Given the description of an element on the screen output the (x, y) to click on. 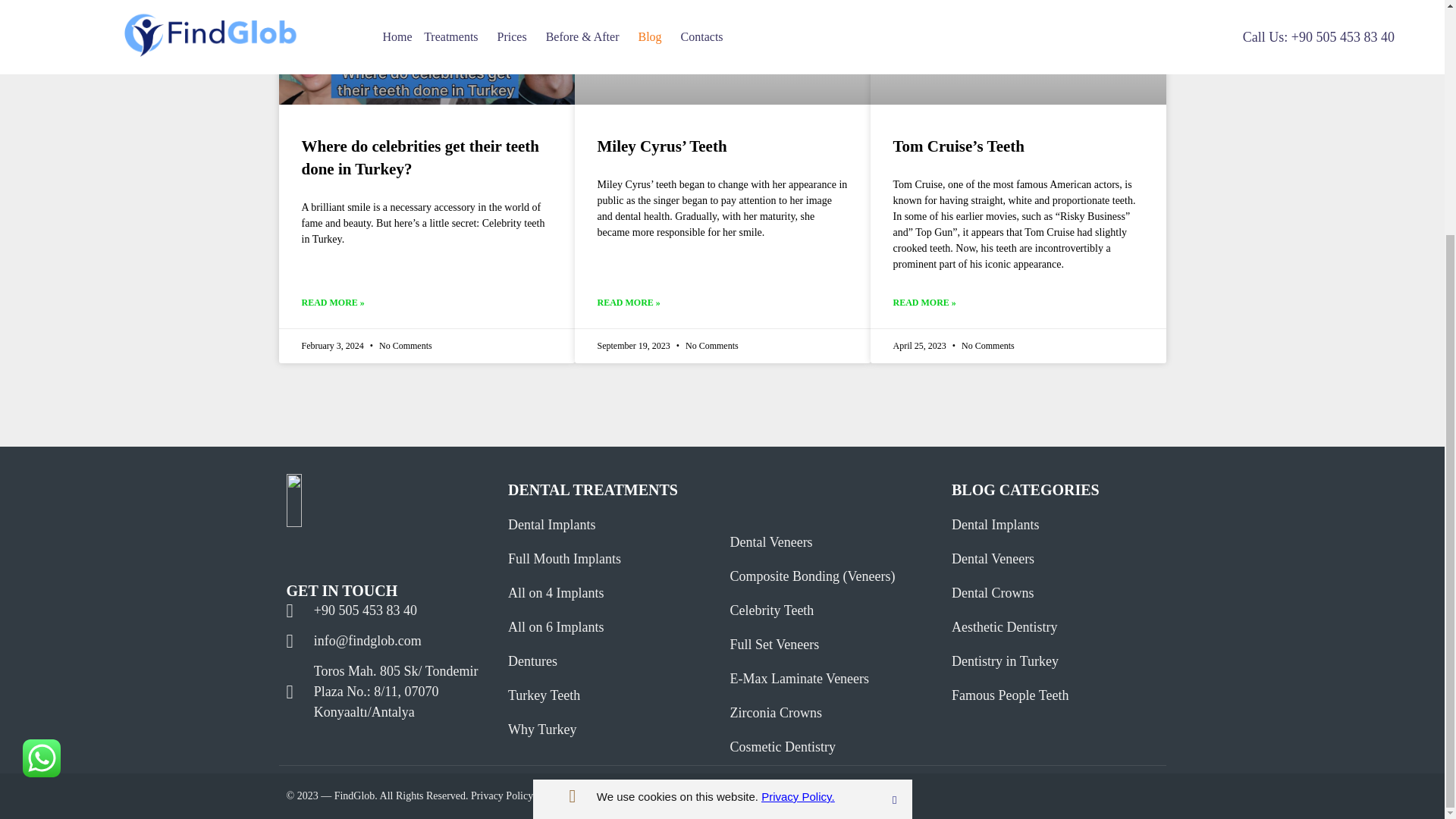
pixeldigital-04 (373, 500)
Where do celebrities get their teeth done in Turkey (423, 52)
Tom Cruise (1015, 63)
